Given the description of an element on the screen output the (x, y) to click on. 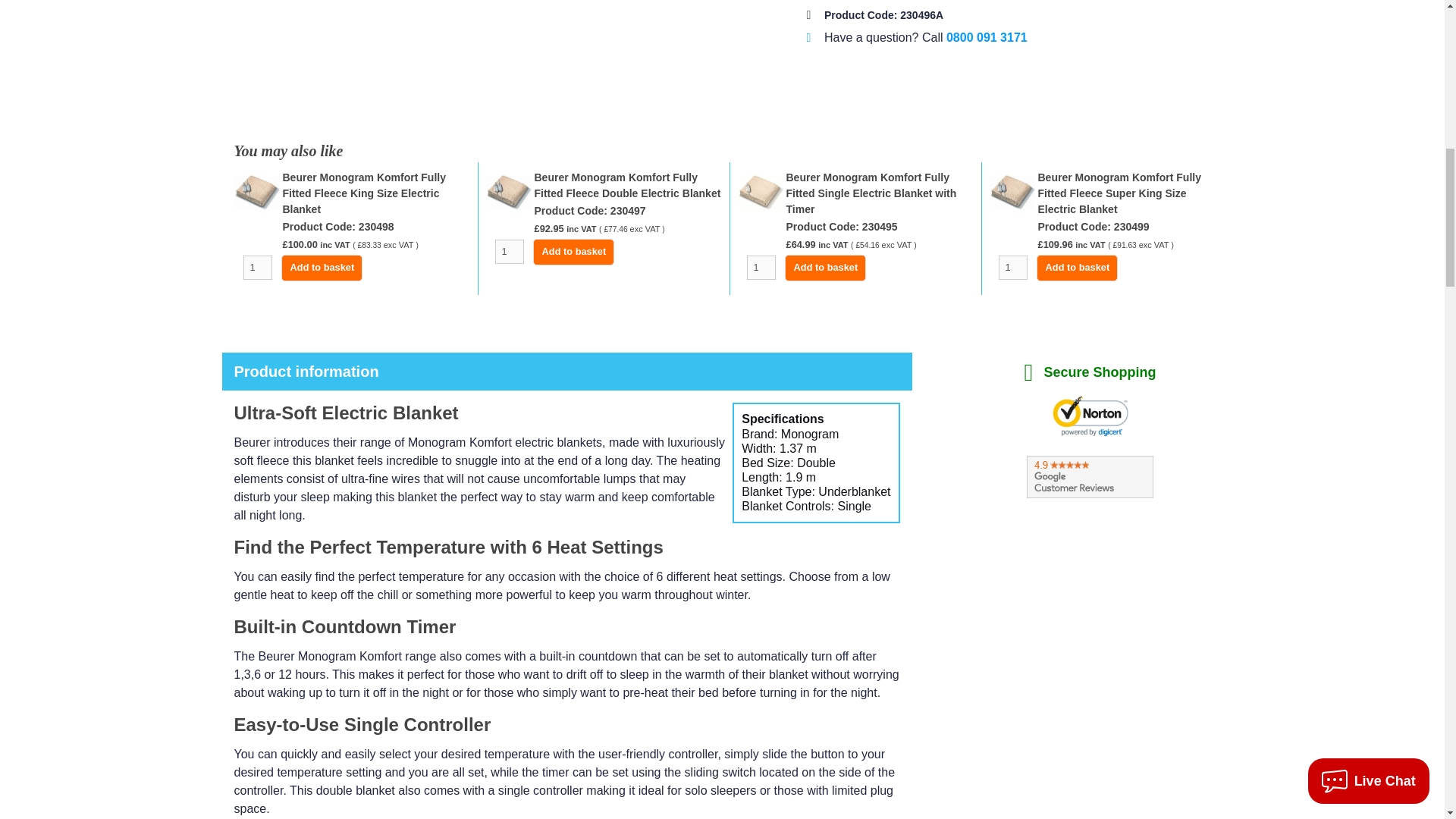
Add to basket (1077, 267)
1 (256, 267)
1 (1011, 267)
1 (508, 251)
Add to basket (825, 267)
Add to basket (321, 267)
1 (759, 267)
Add to basket (573, 252)
